Given the description of an element on the screen output the (x, y) to click on. 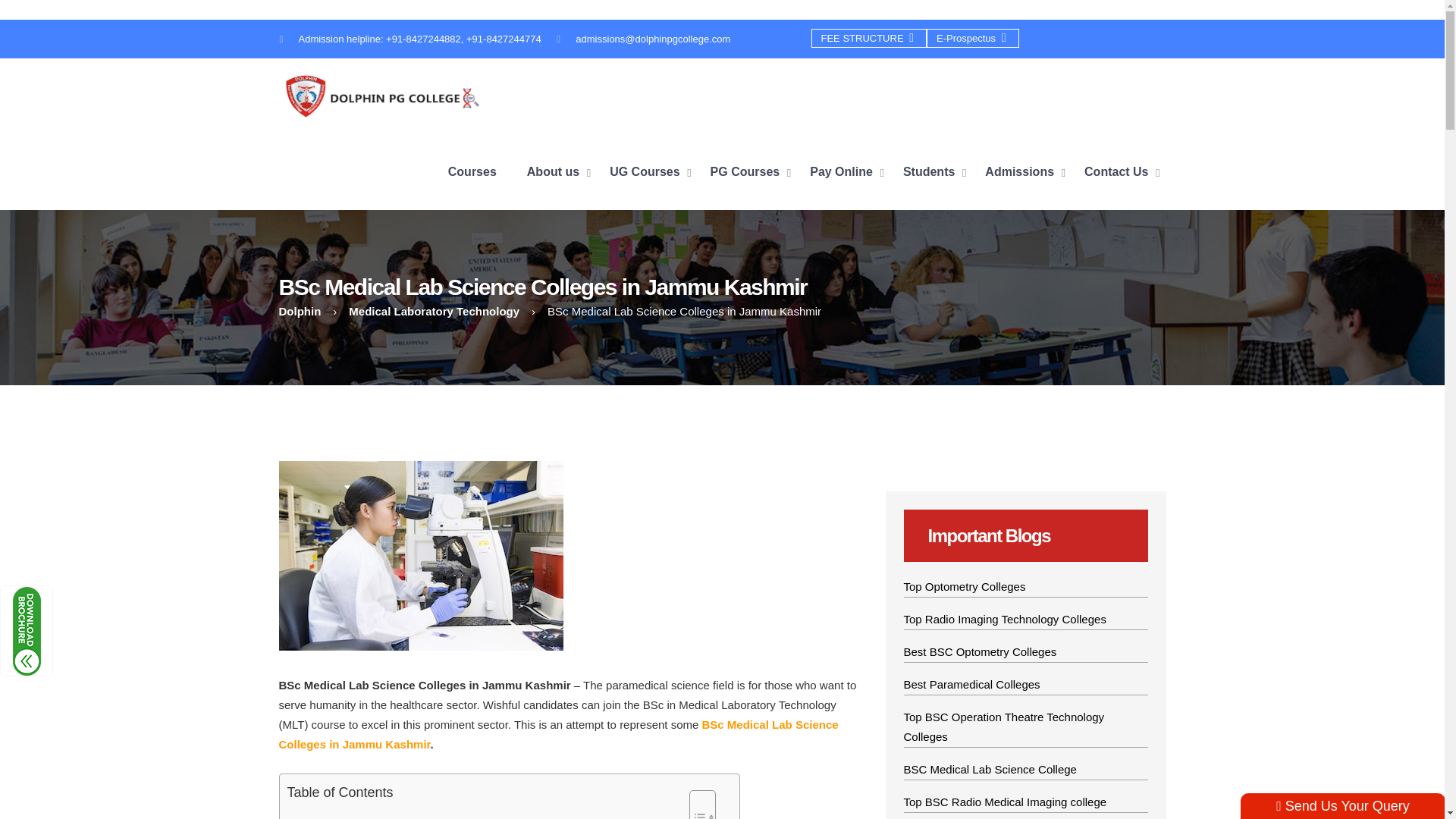
E-Prospectus (972, 37)
FEE STRUCTURE (868, 37)
Medical Laboratory Technology (434, 310)
Dolphin (300, 310)
PG Courses (747, 171)
UG Courses (647, 171)
